Given the description of an element on the screen output the (x, y) to click on. 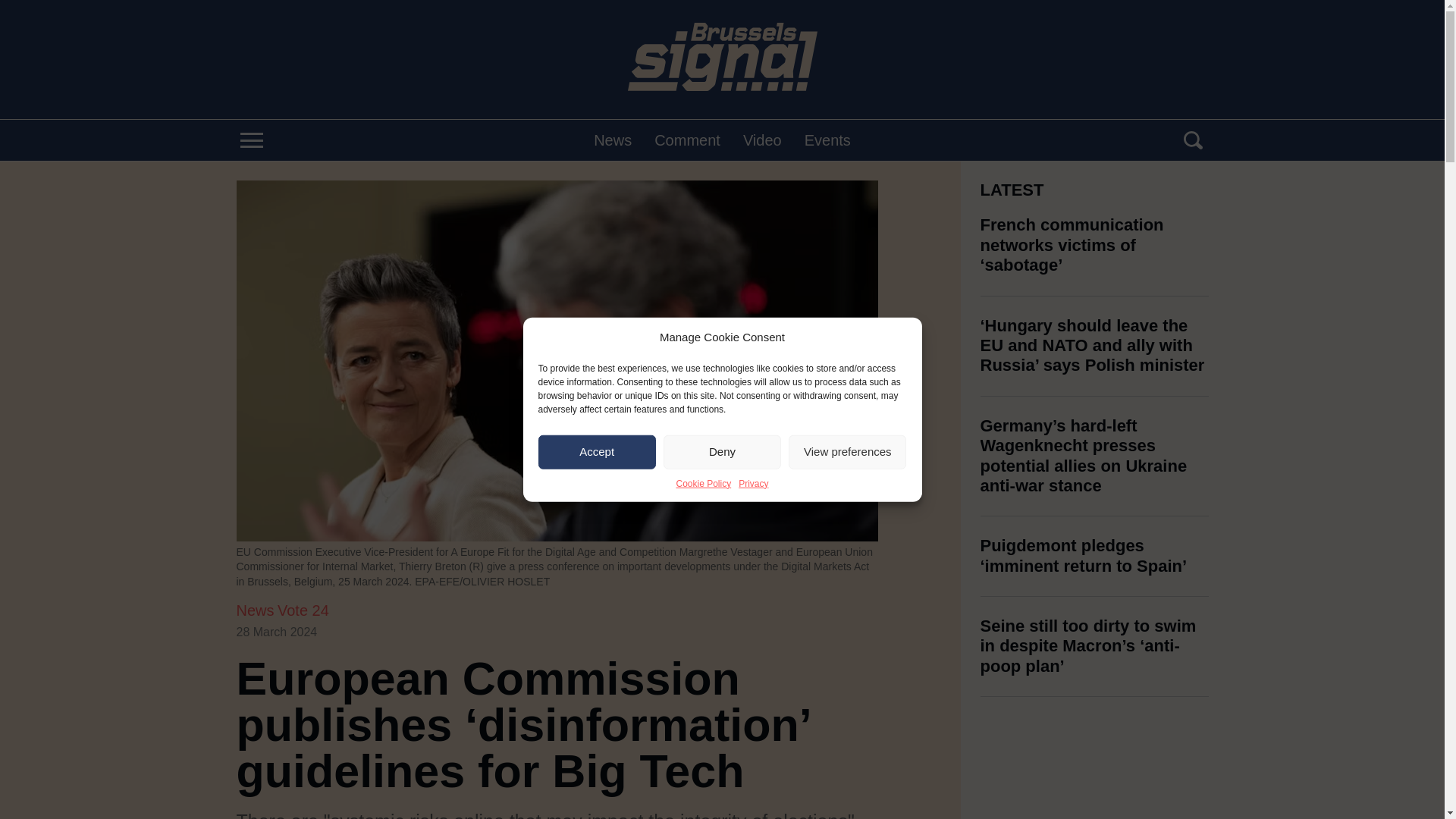
Vote 24 (303, 610)
View preferences (847, 451)
Deny (721, 451)
Events (827, 140)
Accept (597, 451)
News (255, 610)
Privacy (753, 482)
Video (761, 140)
News (612, 140)
Comment (686, 140)
Cookie Policy (702, 482)
